Given the description of an element on the screen output the (x, y) to click on. 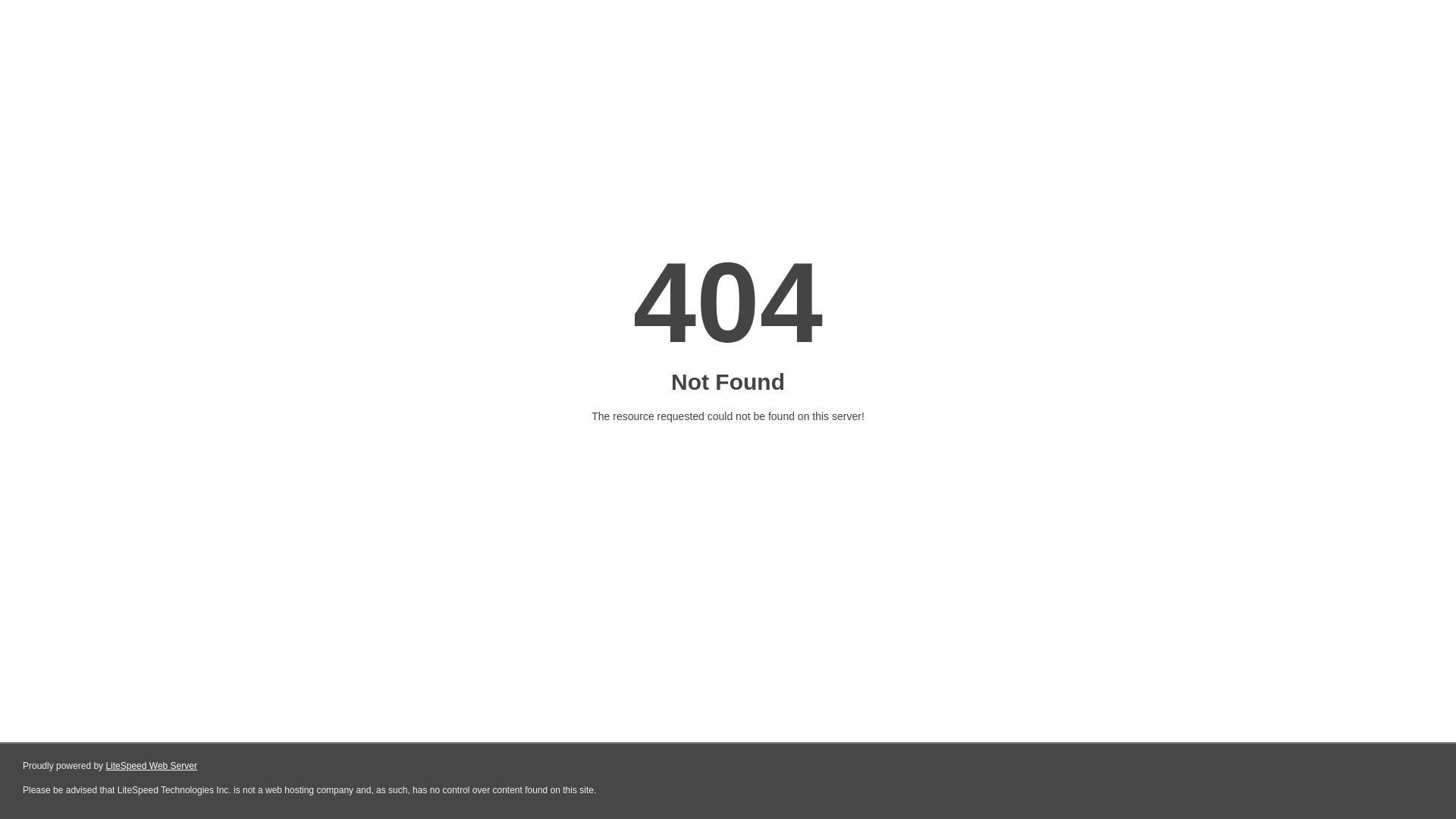
LiteSpeed Web Server Element type: text (151, 765)
